Given the description of an element on the screen output the (x, y) to click on. 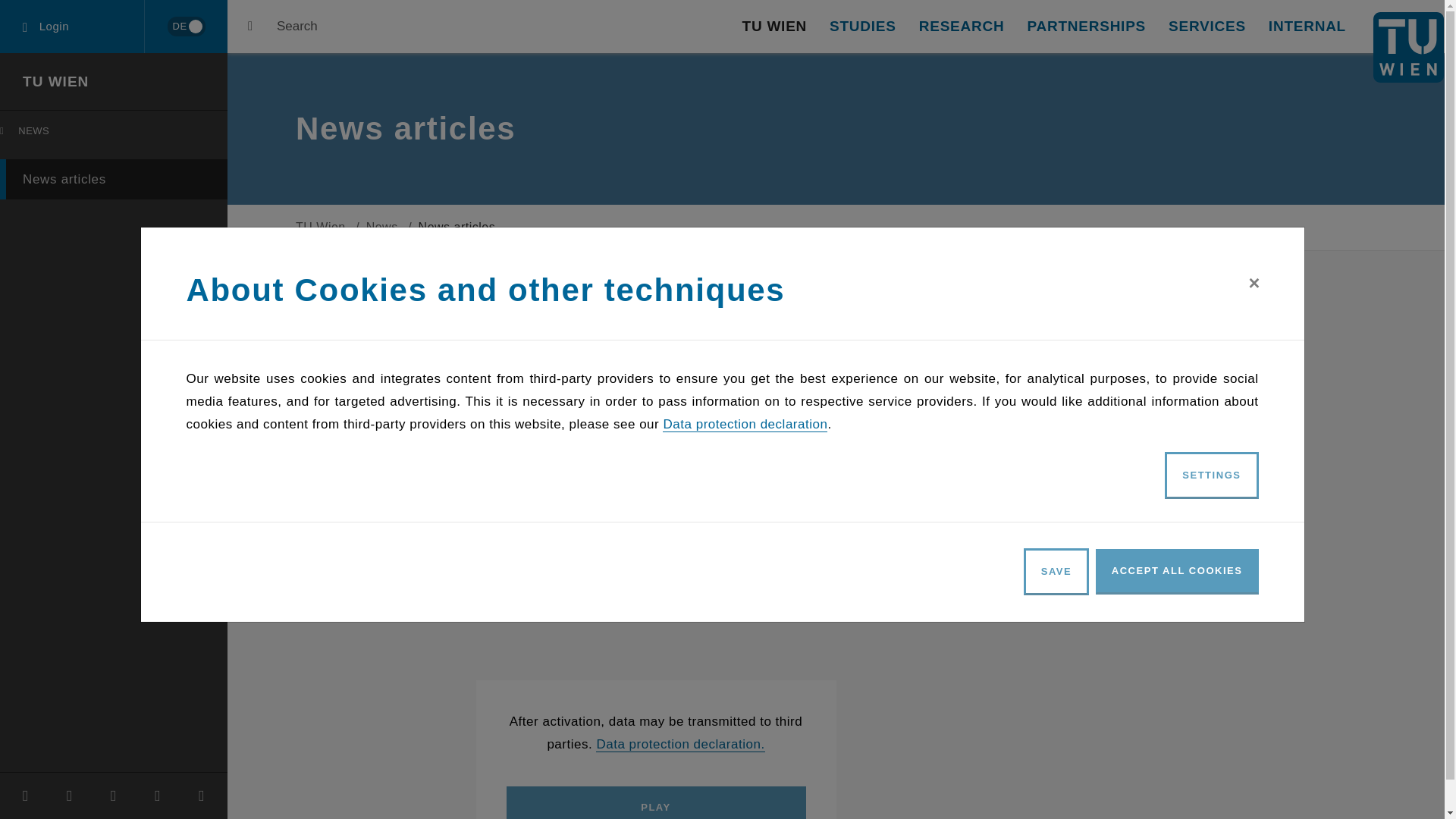
Wechseln zu Deutsch (117, 134)
DE (186, 26)
Login (185, 26)
News articles (72, 26)
STUDIES (113, 178)
TU WIEN (862, 26)
Search (55, 81)
TU WIEN (282, 26)
TU Wien - homepage (774, 26)
